Given the description of an element on the screen output the (x, y) to click on. 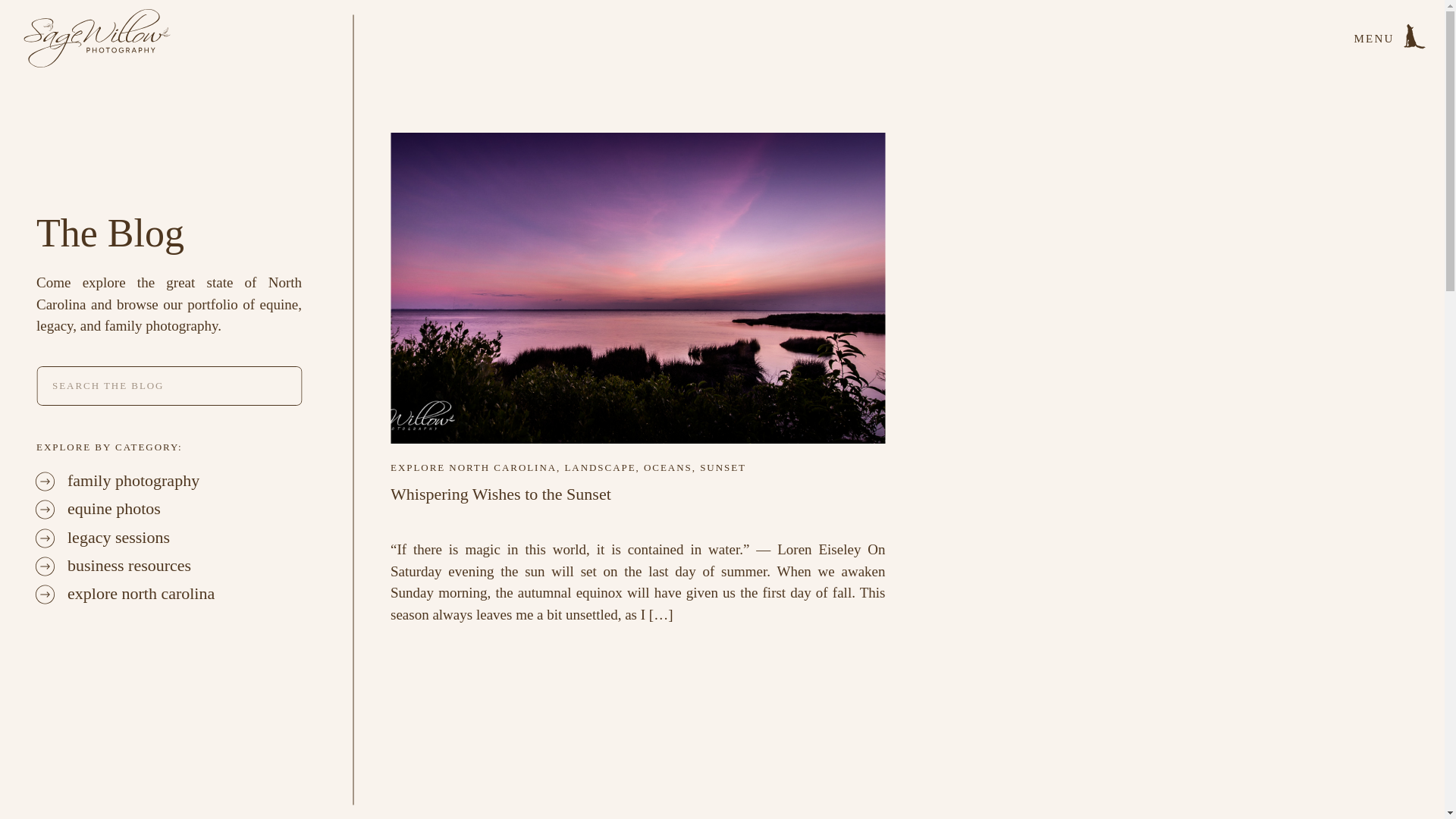
SUNSET (722, 467)
EXPLORE NORTH CAROLINA (473, 467)
Whispering Wishes to the Sunset (500, 493)
legacy sessions (182, 538)
OUR PHOTOGRAPHY SERVICES (347, 806)
OCEANS (668, 467)
equine photos (182, 508)
explore north carolina (182, 594)
business resources (182, 566)
